Given the description of an element on the screen output the (x, y) to click on. 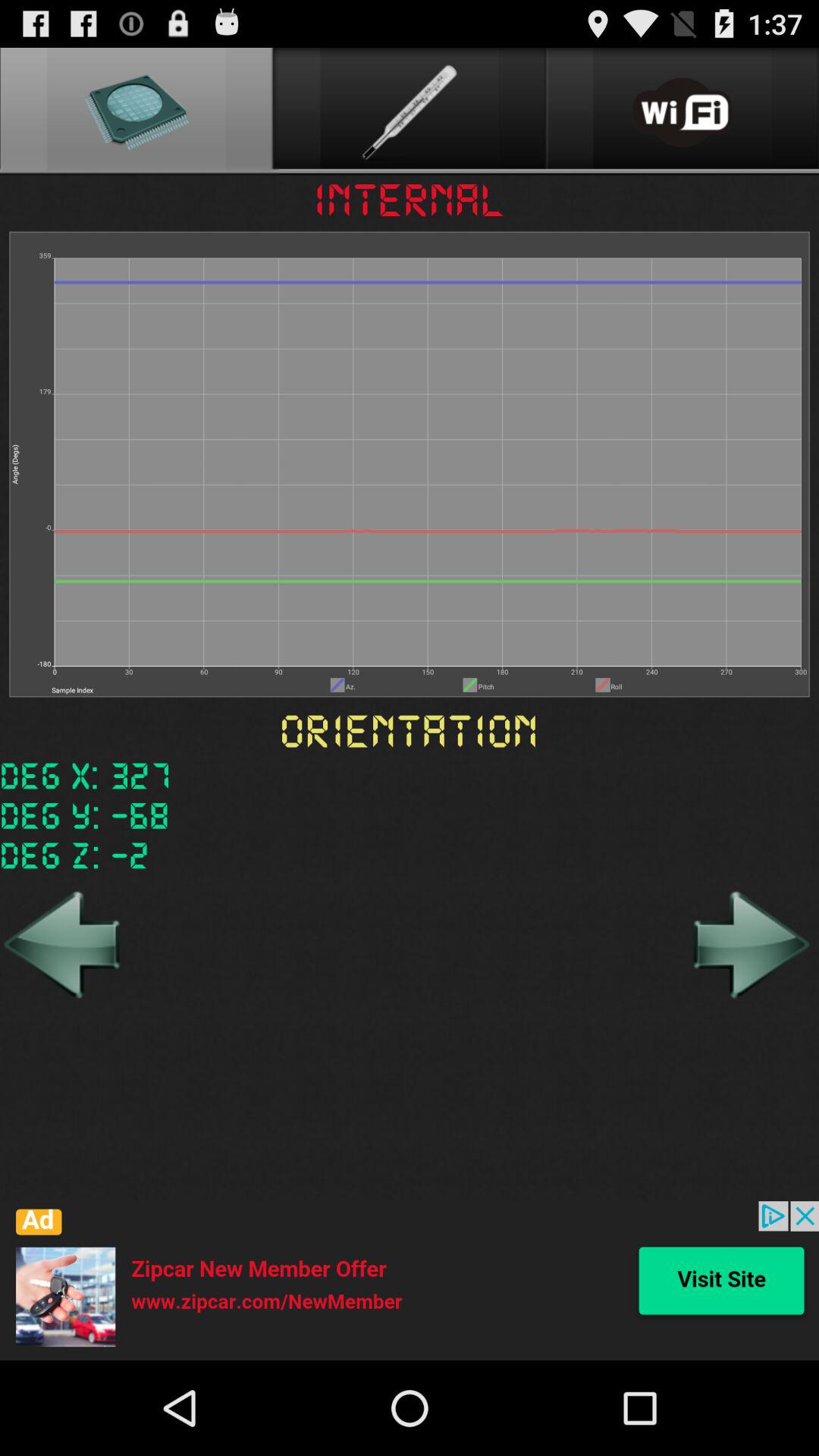
go to back (63, 944)
